Given the description of an element on the screen output the (x, y) to click on. 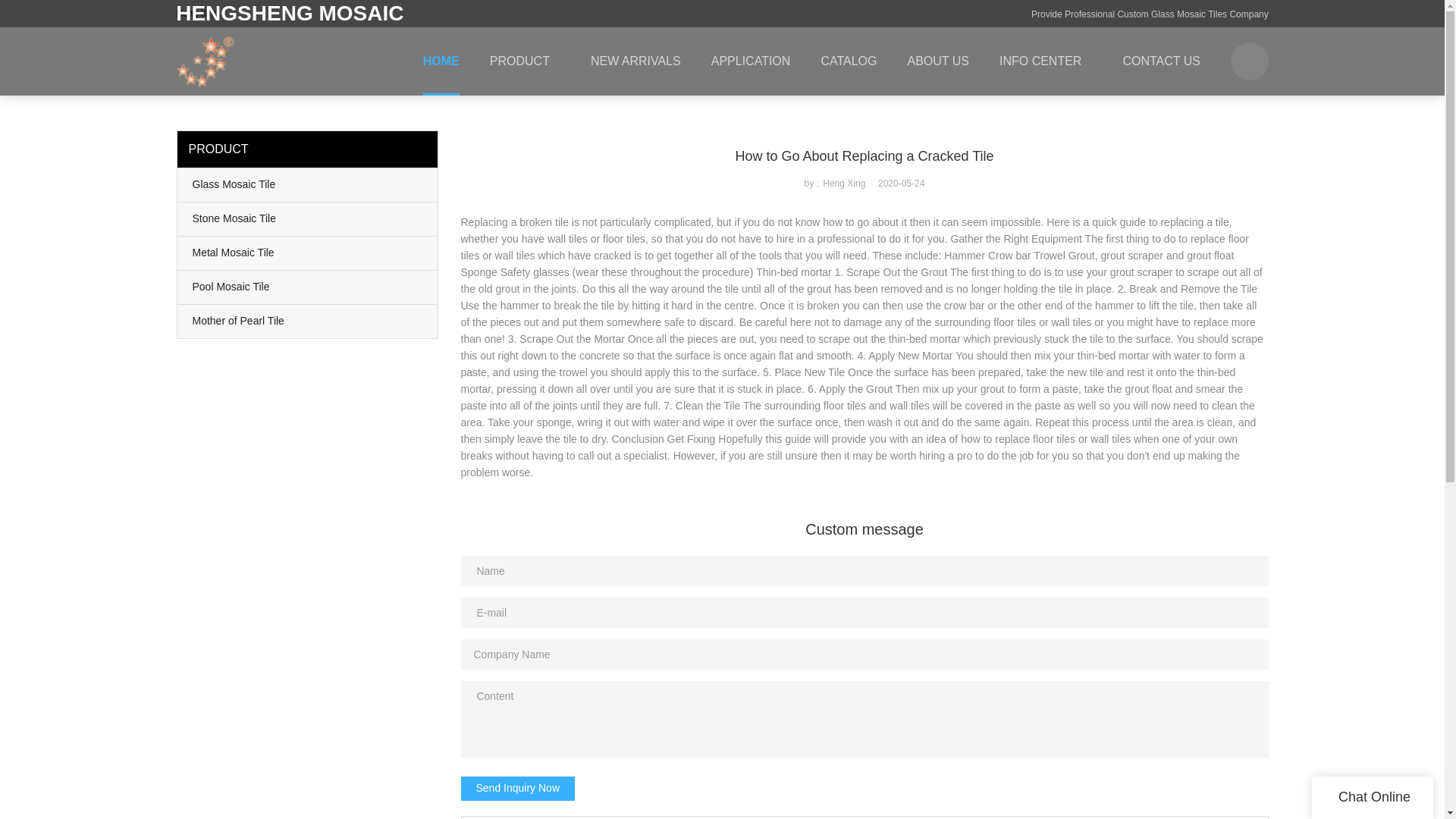
Metal Mosaic Tile (307, 253)
CATALOG (848, 61)
Send Inquiry Now (518, 788)
INFO CENTER (1045, 61)
Pool Mosaic Tile (307, 287)
NEW ARRIVALS (635, 61)
CONTACT US (1160, 61)
HOME (440, 61)
Mother of Pearl Tile (307, 321)
Glass Mosaic Tile (307, 184)
PRODUCT (524, 61)
APPLICATION (750, 61)
Heng Xing (197, 13)
Stone Mosaic Tile (307, 218)
ABOUT US (937, 61)
